Given the description of an element on the screen output the (x, y) to click on. 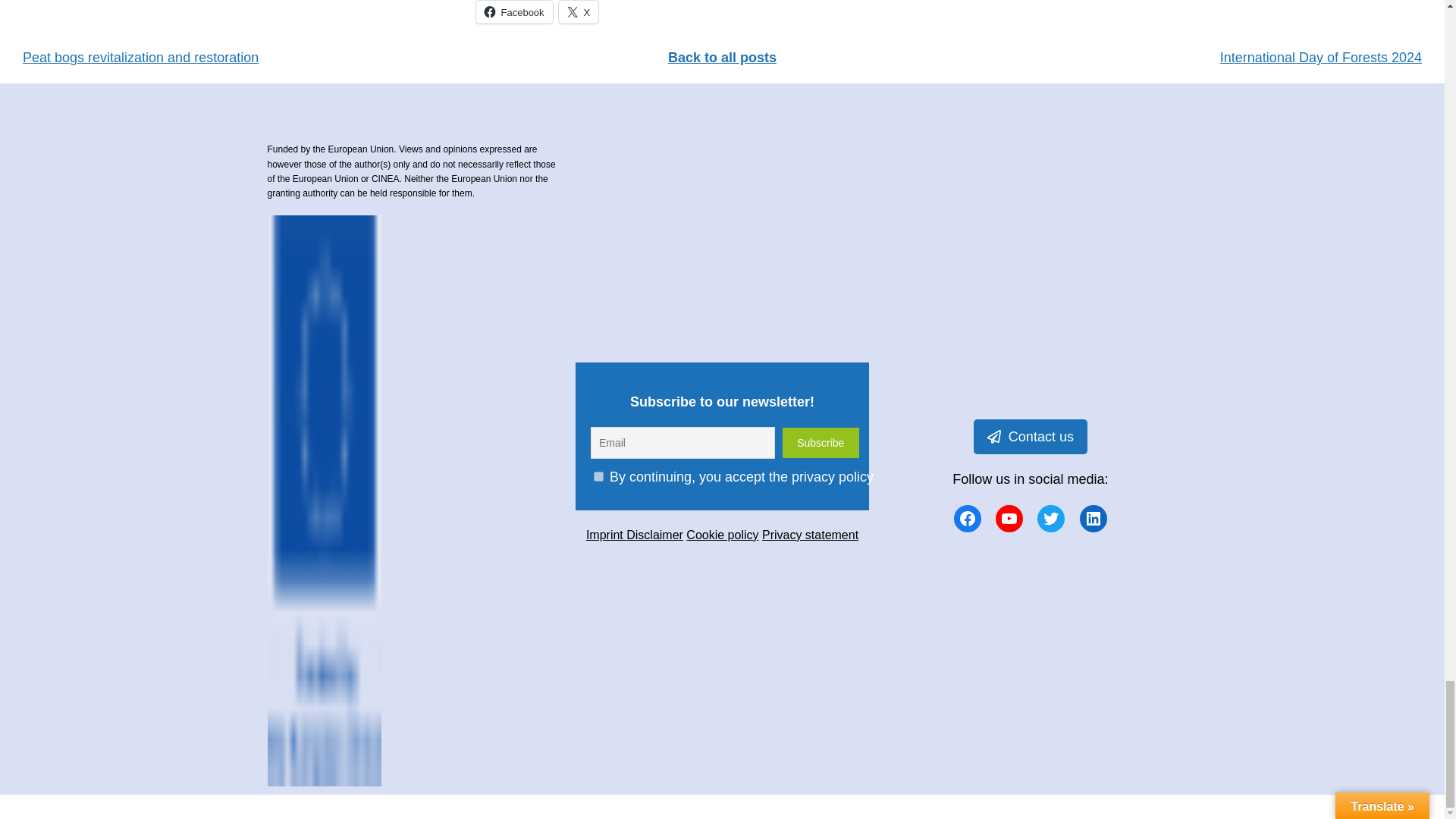
Facebook (514, 11)
Click to share on X (578, 11)
Privacy statement (810, 533)
Disclaimer (654, 533)
Subscribe (821, 442)
on (599, 476)
Imprint (606, 533)
Facebook (967, 518)
Click to share on Facebook (514, 11)
X (578, 11)
